Given the description of an element on the screen output the (x, y) to click on. 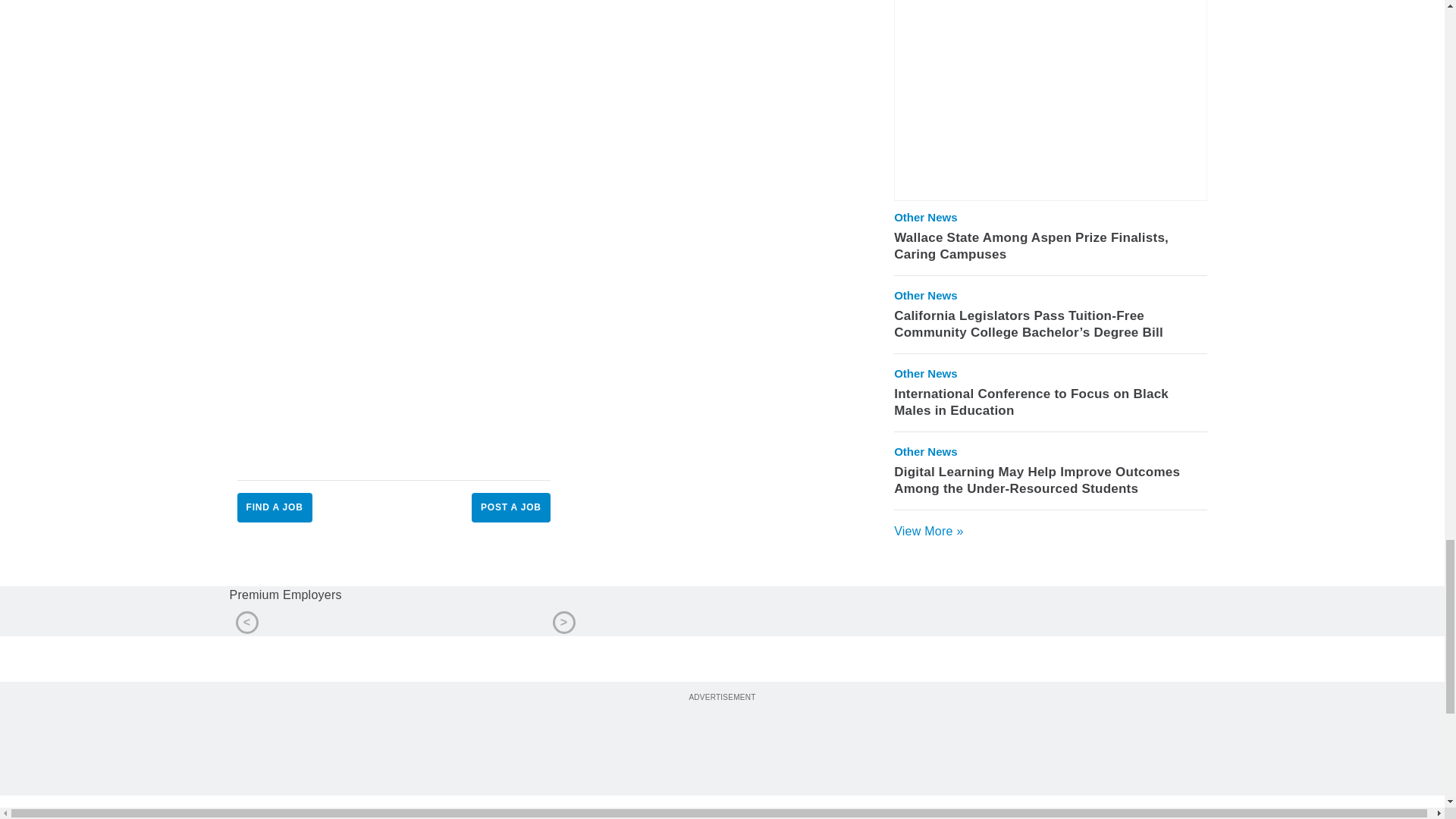
Other News (924, 373)
Other News (924, 295)
Other News (924, 217)
